Given the description of an element on the screen output the (x, y) to click on. 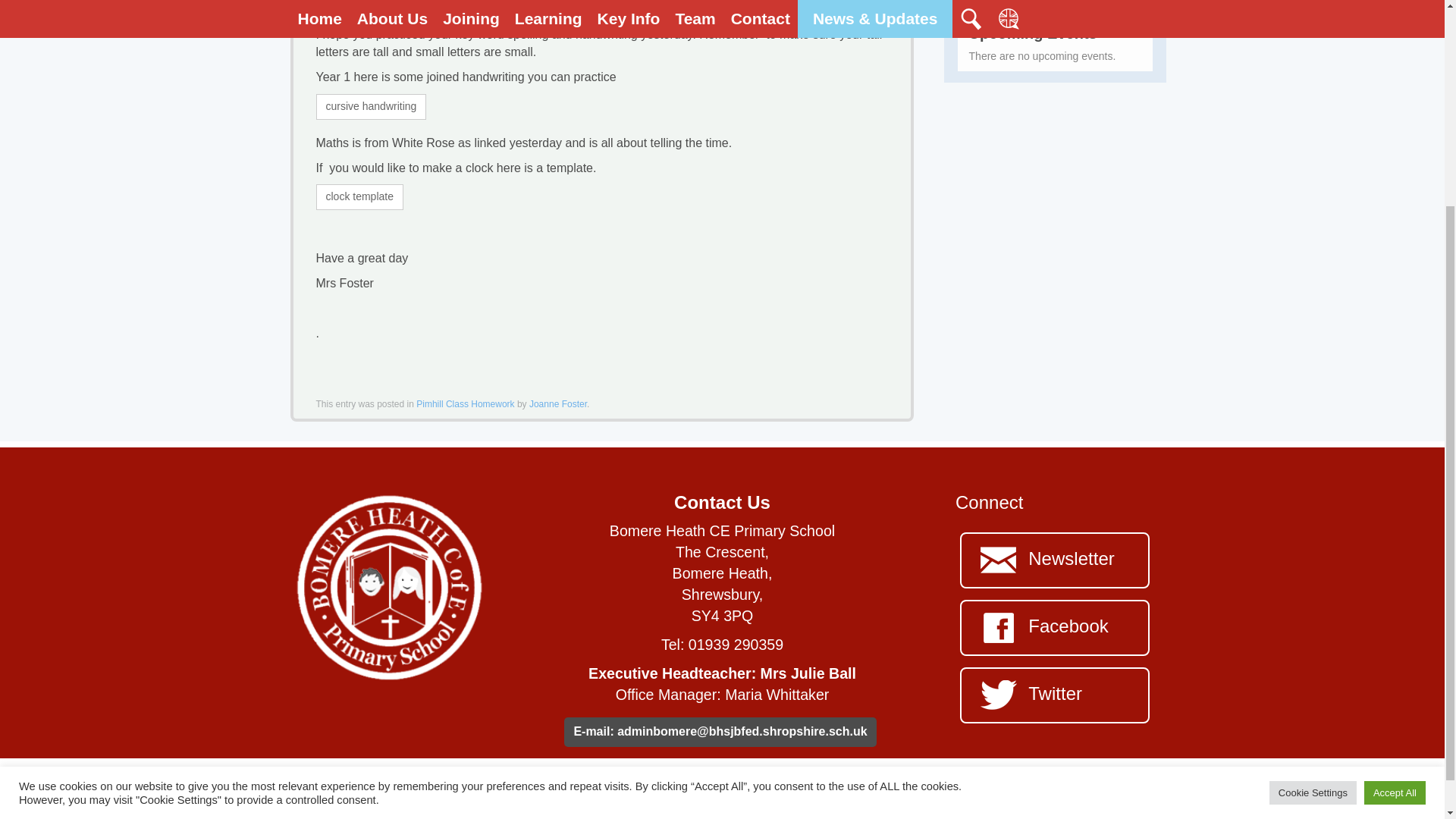
Joanne Foster (557, 403)
clock template (359, 196)
Pimhill Class Homework (464, 403)
cursive handwriting (370, 106)
